Given the description of an element on the screen output the (x, y) to click on. 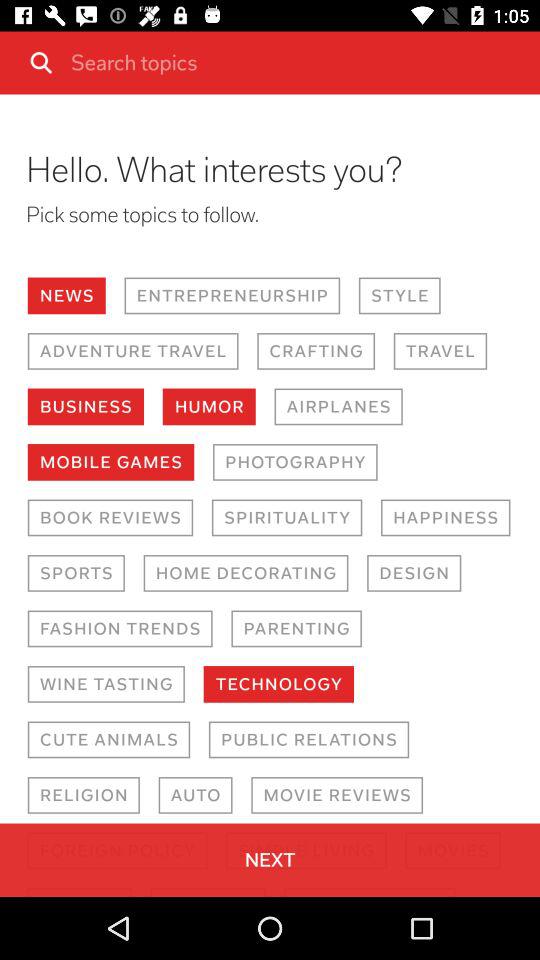
flip to happiness icon (445, 517)
